Given the description of an element on the screen output the (x, y) to click on. 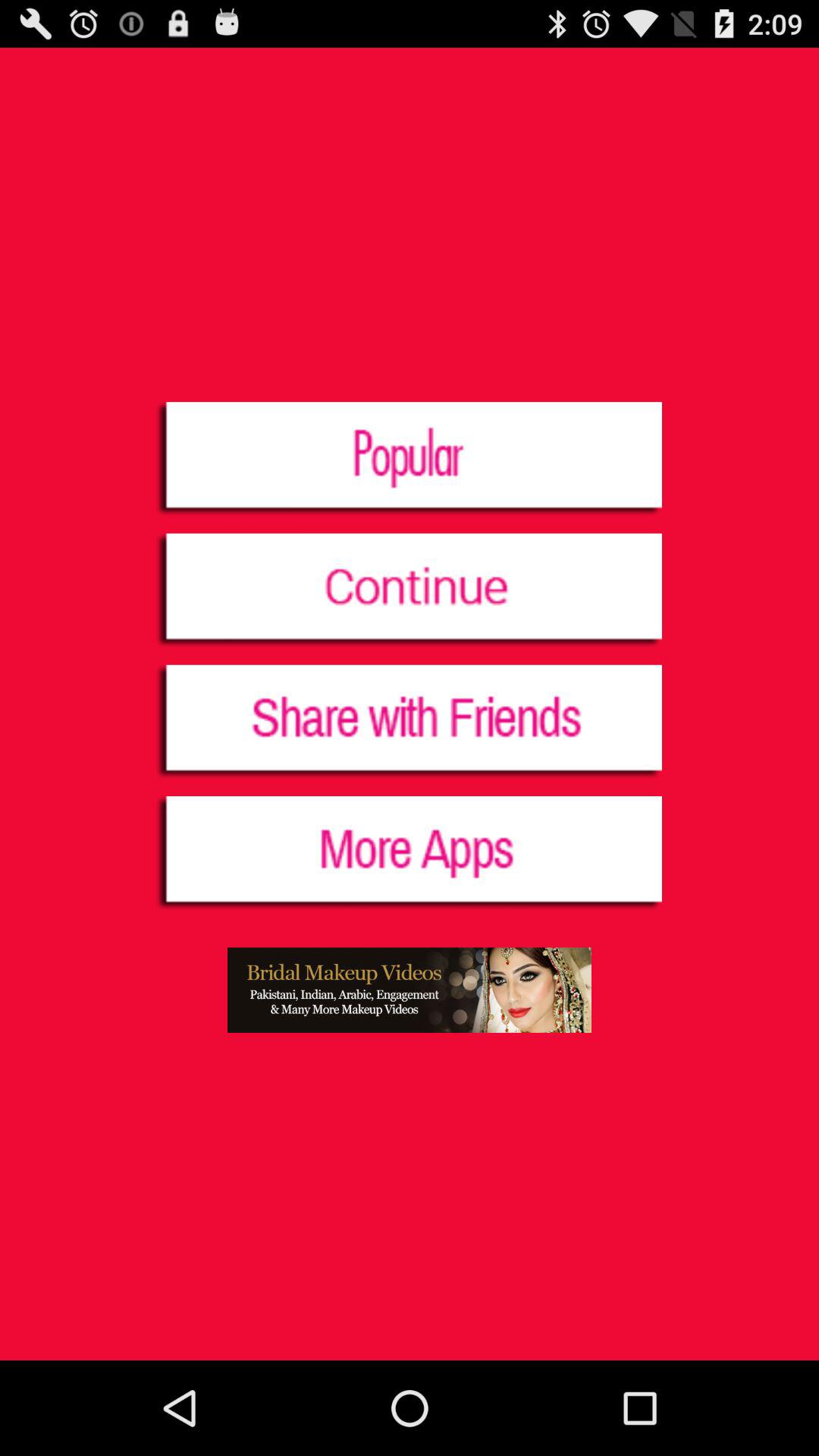
click icon at the bottom (409, 989)
